Given the description of an element on the screen output the (x, y) to click on. 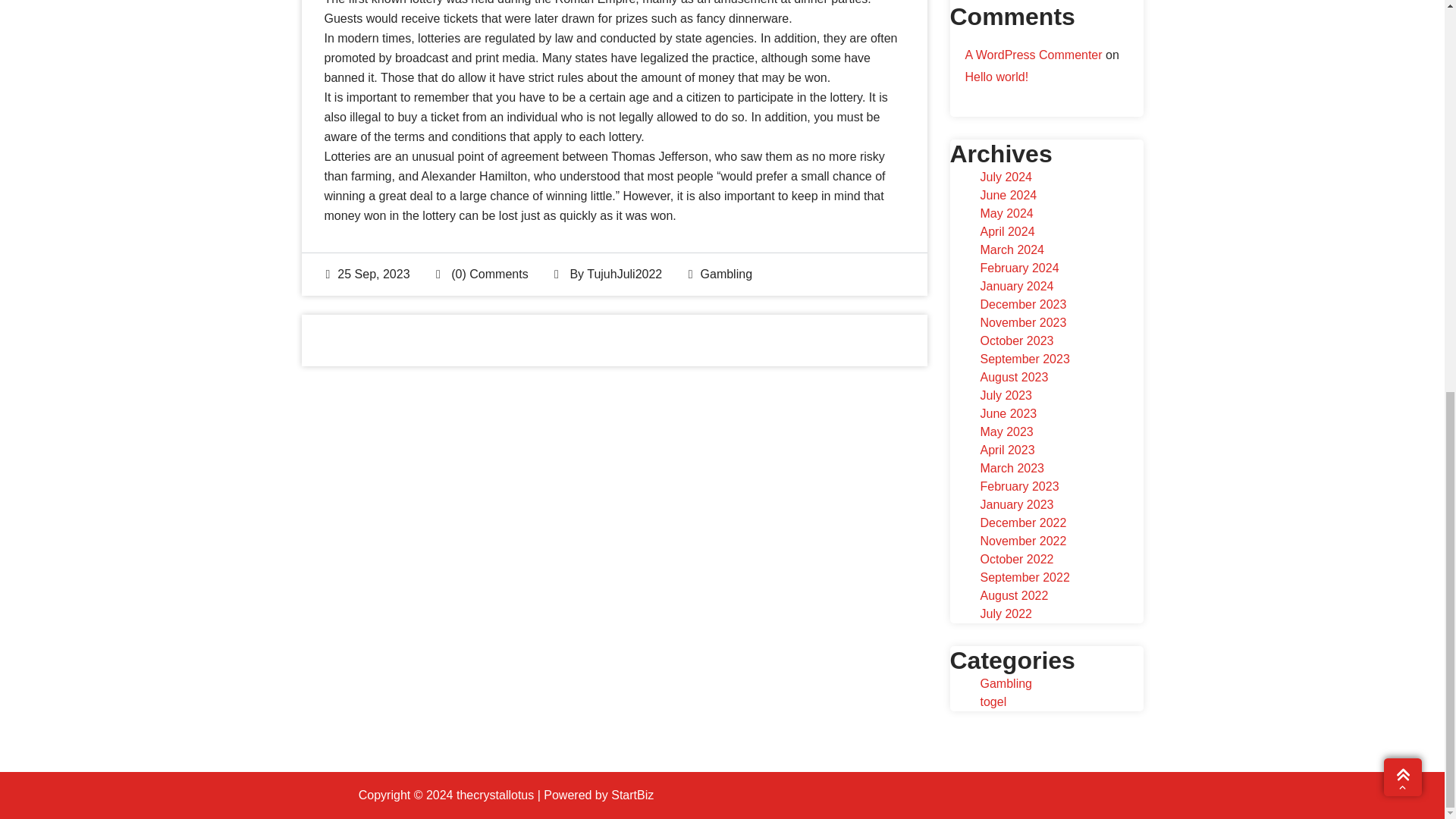
Hello world! (995, 76)
June 2023 (1007, 413)
September 2023 (1023, 358)
25 Sep, 2023 (368, 273)
May 2023 (1005, 431)
April 2024 (1006, 231)
TujuhJuli2022 (624, 273)
June 2024 (1007, 195)
November 2023 (1022, 322)
A WordPress Commenter (1032, 54)
May 2024 (1005, 213)
April 2023 (1006, 449)
October 2023 (1015, 340)
July 2023 (1005, 395)
Gambling (726, 273)
